Given the description of an element on the screen output the (x, y) to click on. 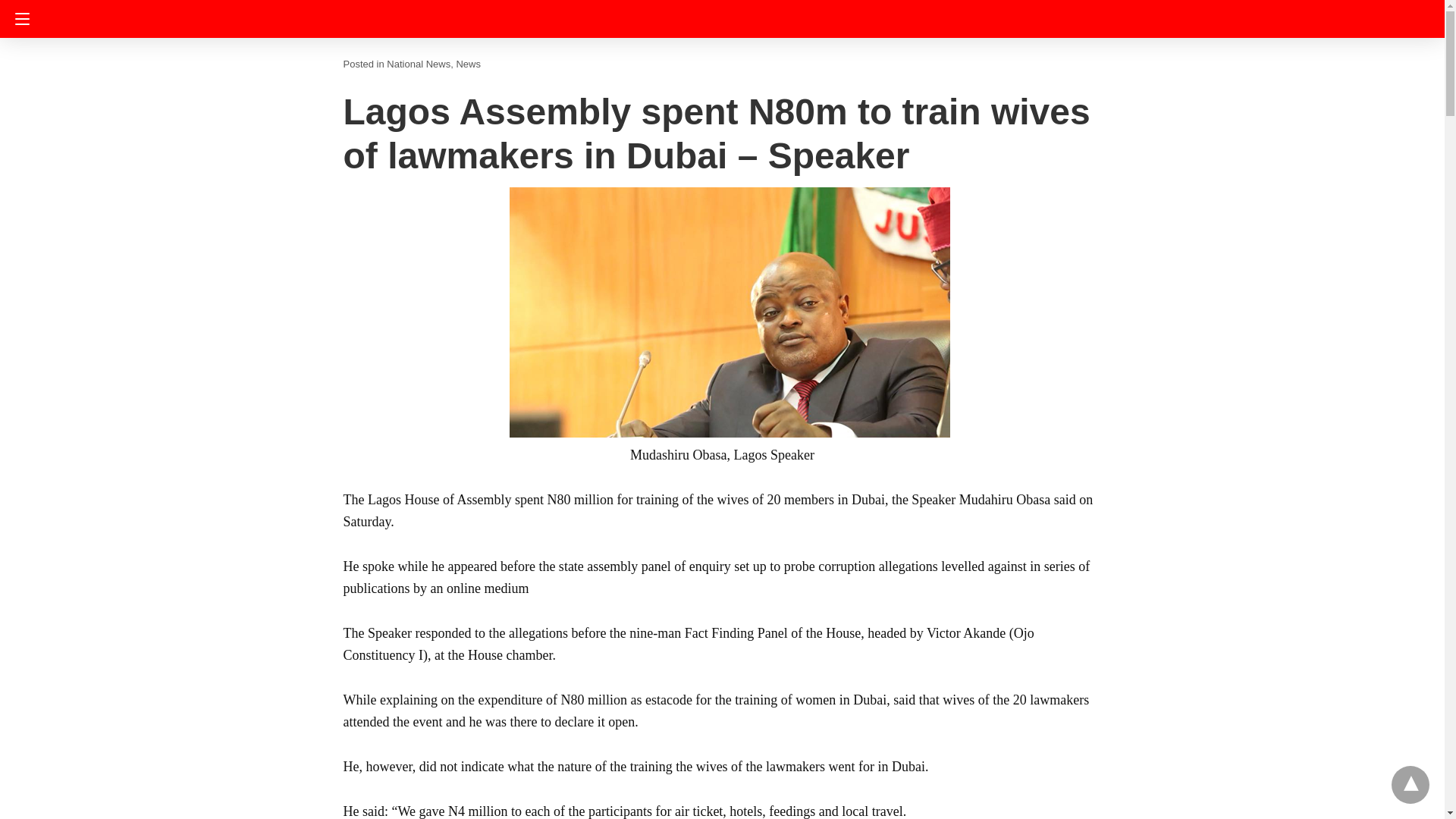
News (467, 63)
The NEWS (722, 17)
National News (418, 63)
